Given the description of an element on the screen output the (x, y) to click on. 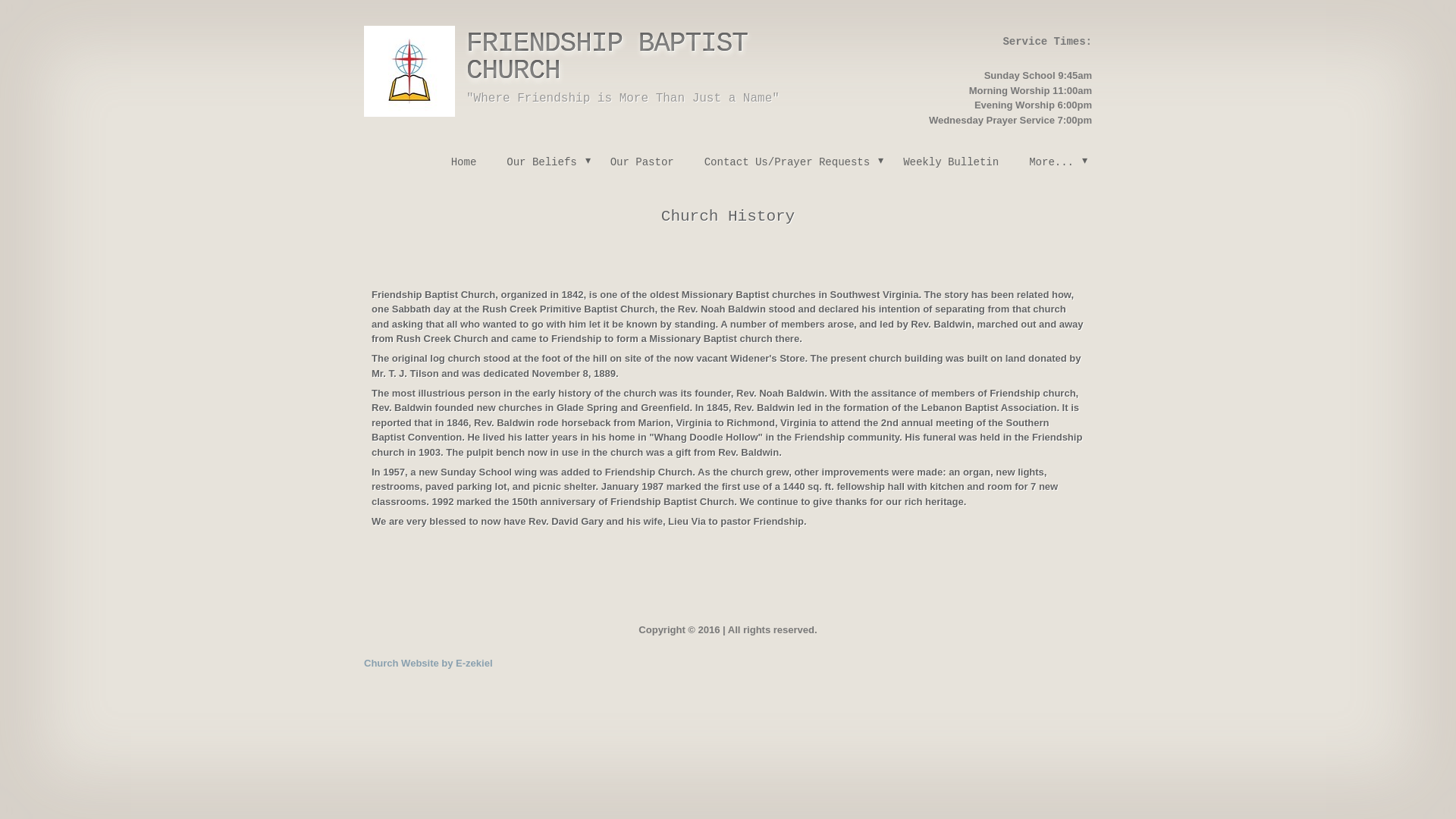
Our Beliefs (543, 162)
Church Website by E-zekiel (428, 663)
Weekly Bulletin (950, 162)
More... (1052, 162)
Our Pastor (641, 162)
Home (463, 162)
FRIENDSHIP BAPTIST CHURCH (606, 56)
Logo (409, 71)
